Given the description of an element on the screen output the (x, y) to click on. 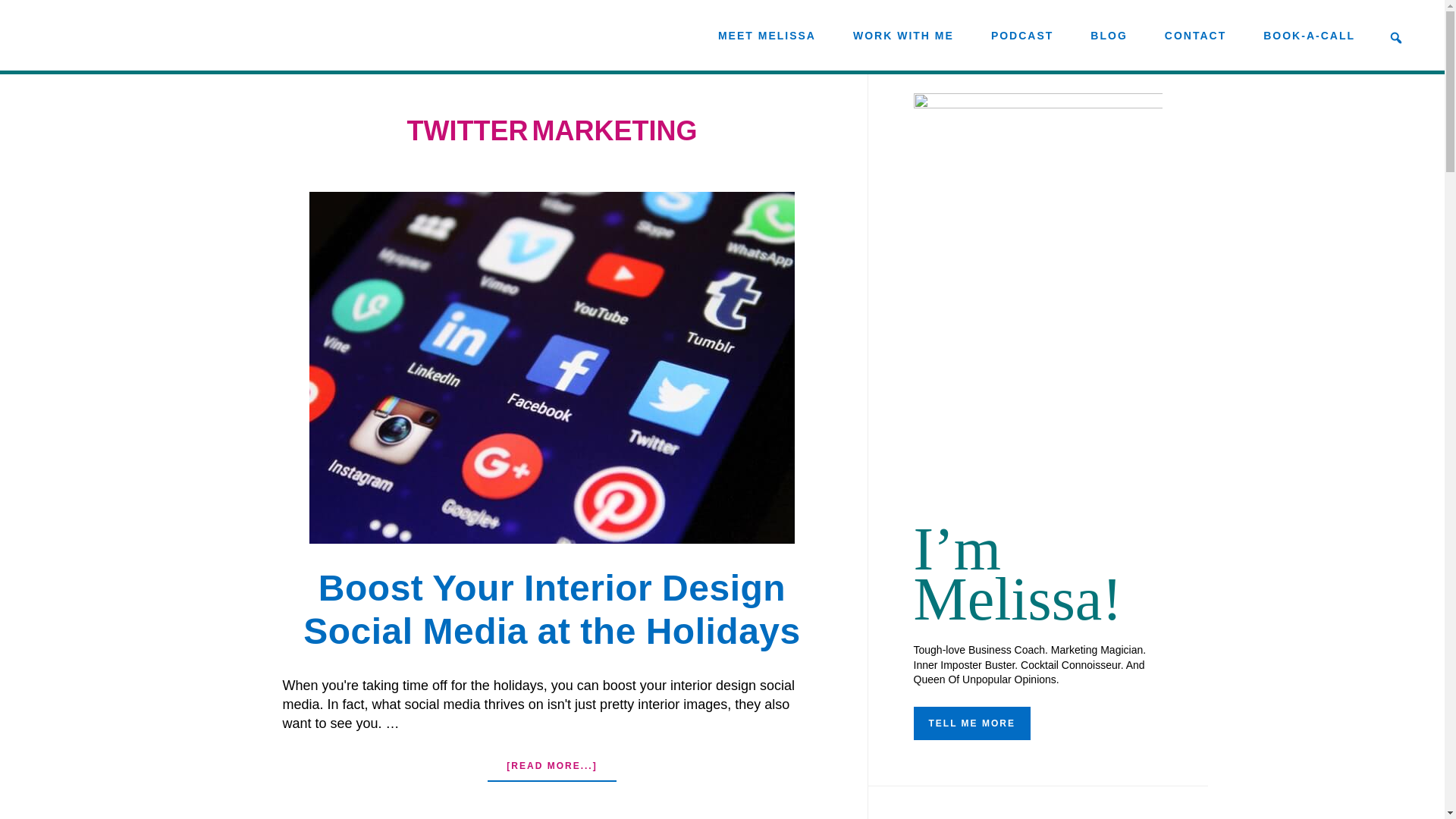
Boost Your Interior Design Social Media at the Holidays (551, 609)
CONTACT (1195, 35)
PODCAST (1022, 35)
MELISSA GALT (141, 33)
BOOK-A-CALL (1308, 35)
WORK WITH ME (903, 35)
MEET MELISSA (766, 35)
BLOG (1108, 35)
